Given the description of an element on the screen output the (x, y) to click on. 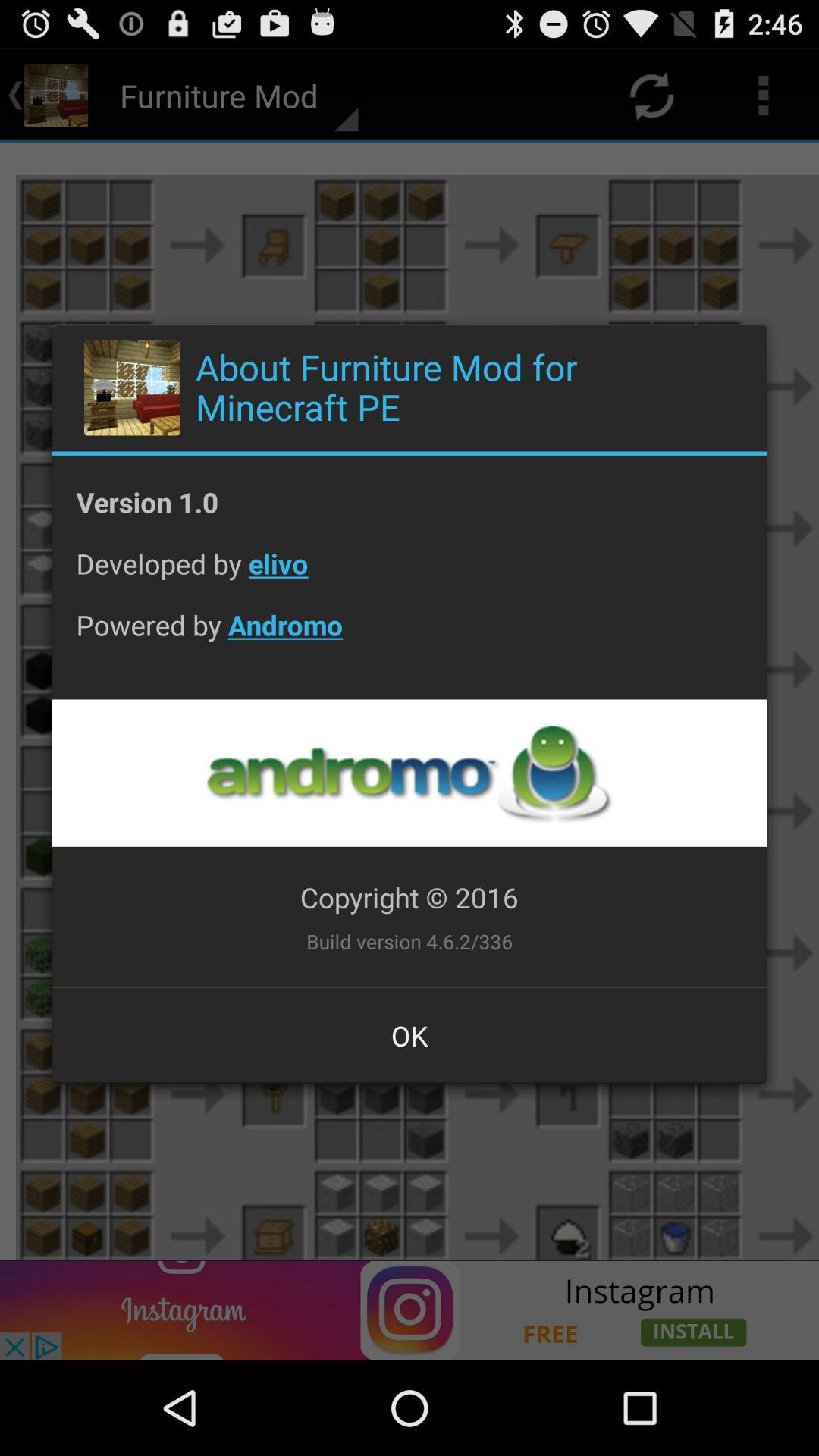
andromo (408, 772)
